Given the description of an element on the screen output the (x, y) to click on. 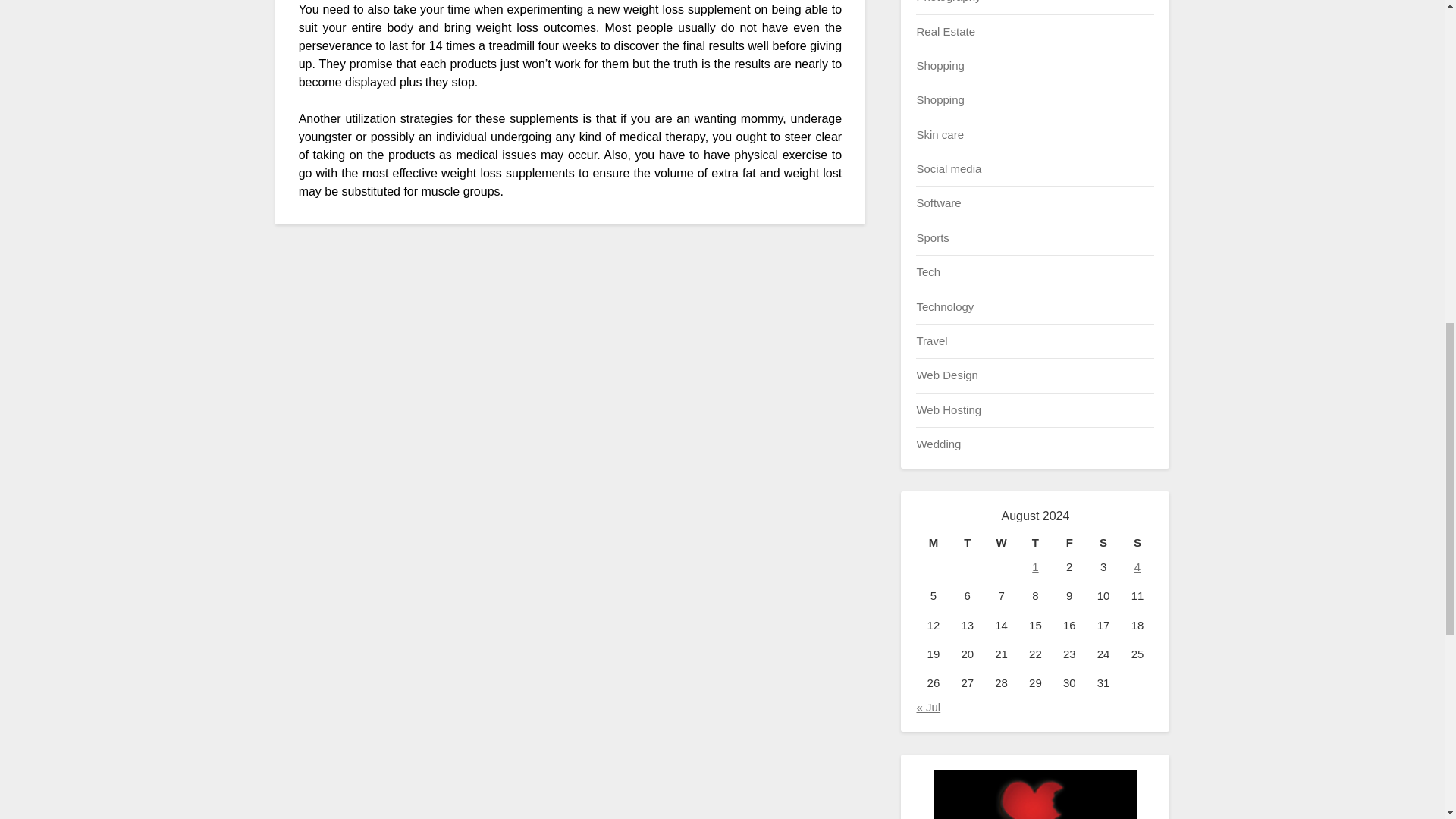
Skin care (939, 133)
Tuesday (967, 542)
Saturday (1103, 542)
Web Hosting (948, 409)
Real Estate (945, 30)
Travel (931, 340)
Social media (948, 168)
Web Design (945, 374)
Software (937, 202)
Sunday (1137, 542)
